Given the description of an element on the screen output the (x, y) to click on. 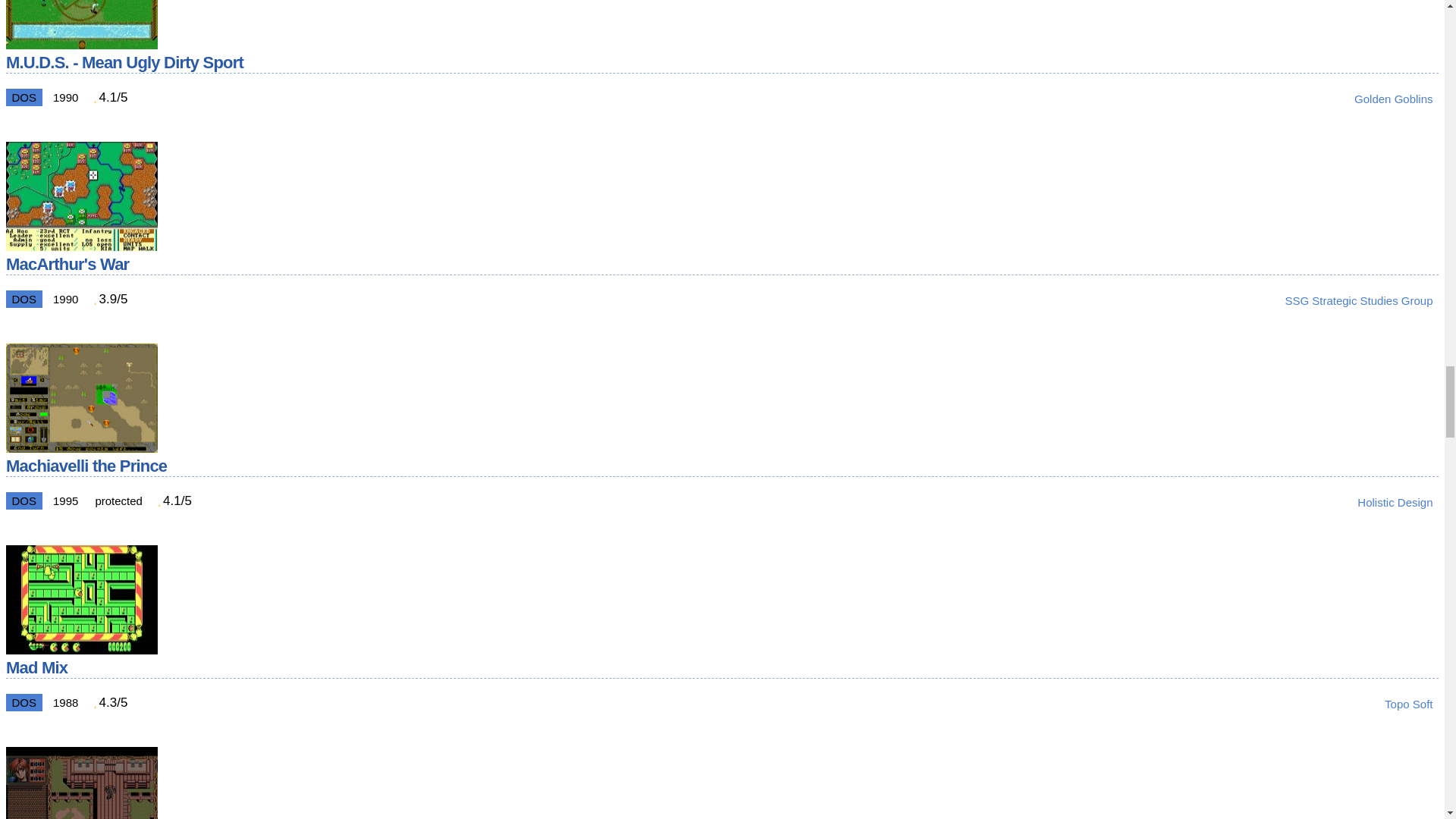
M.U.D.S. - Mean Ugly Dirty Sport (81, 44)
